Given the description of an element on the screen output the (x, y) to click on. 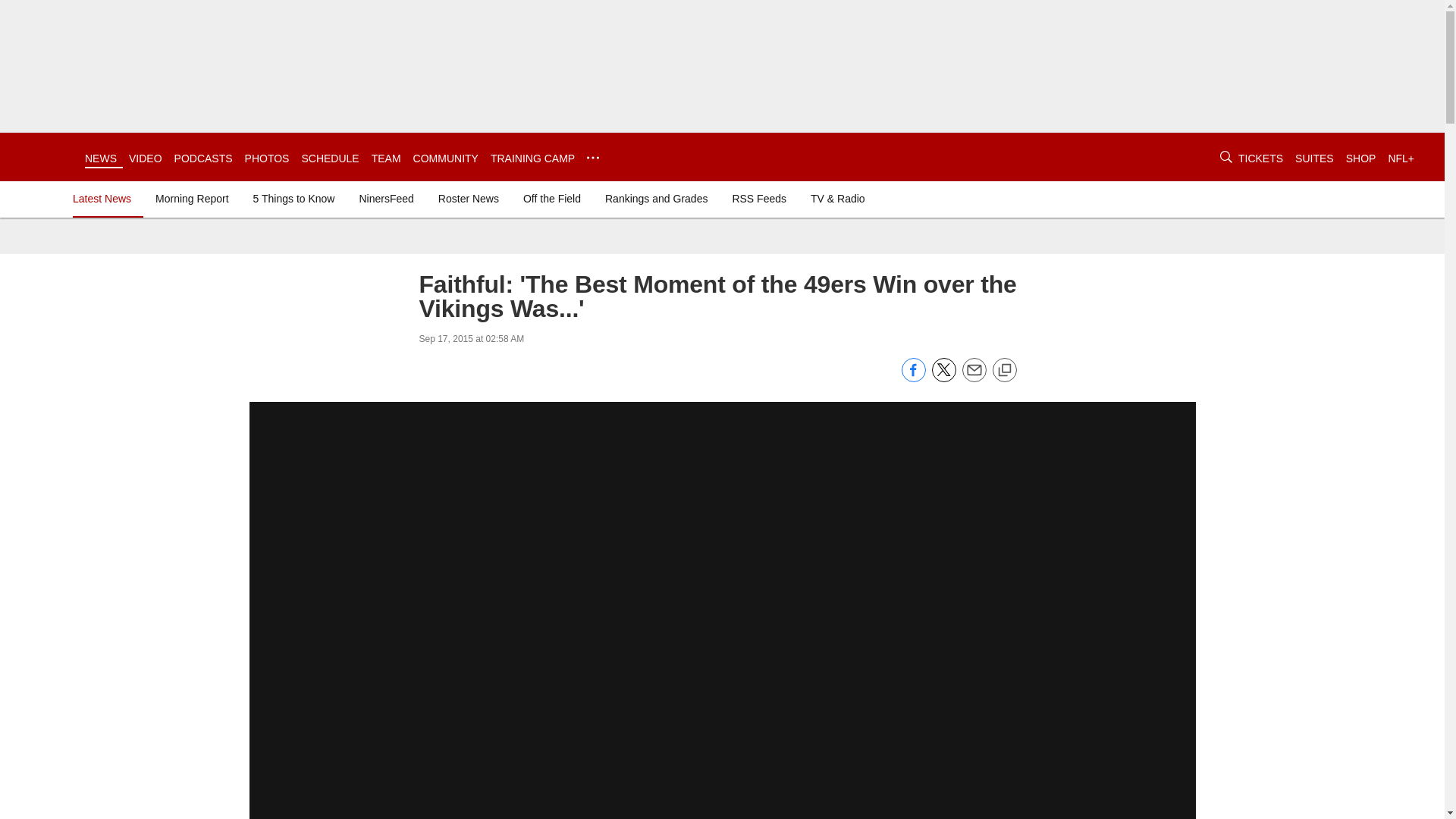
NEWS (100, 158)
RSS Feeds (758, 198)
Morning Report (191, 198)
Rankings and Grades (655, 198)
PHOTOS (266, 158)
SCHEDULE (329, 158)
PODCASTS (203, 158)
COMMUNITY (446, 158)
NEWS (100, 158)
VIDEO (145, 158)
TRAINING CAMP (532, 158)
TEAM (386, 158)
SCHEDULE (329, 158)
TICKETS (1260, 158)
VIDEO (145, 158)
